Given the description of an element on the screen output the (x, y) to click on. 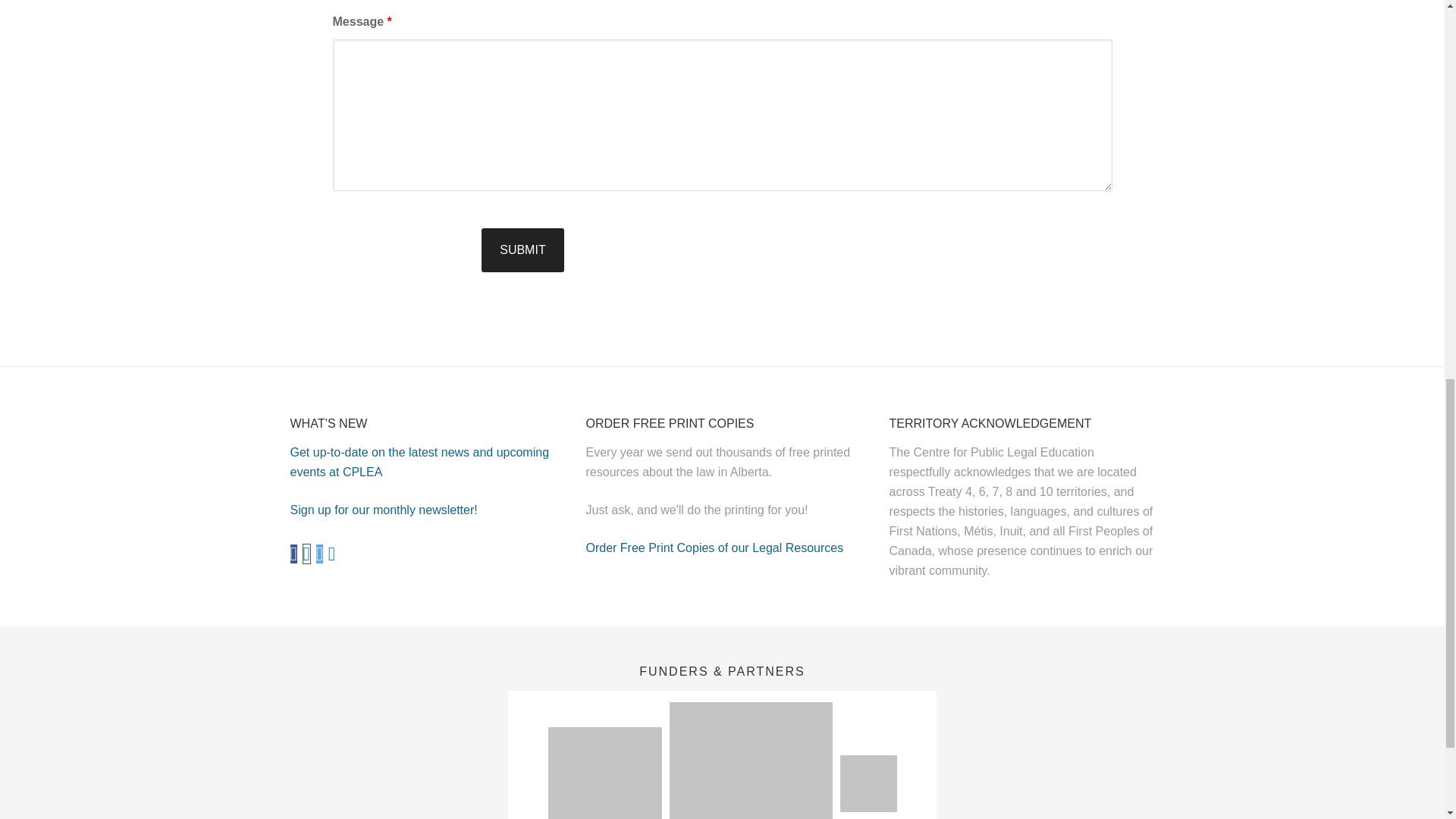
Submit (522, 249)
Submit (522, 249)
Sign up for our monthly newsletter! (383, 509)
Order Free Print Copies of our Legal Resources (714, 547)
